Given the description of an element on the screen output the (x, y) to click on. 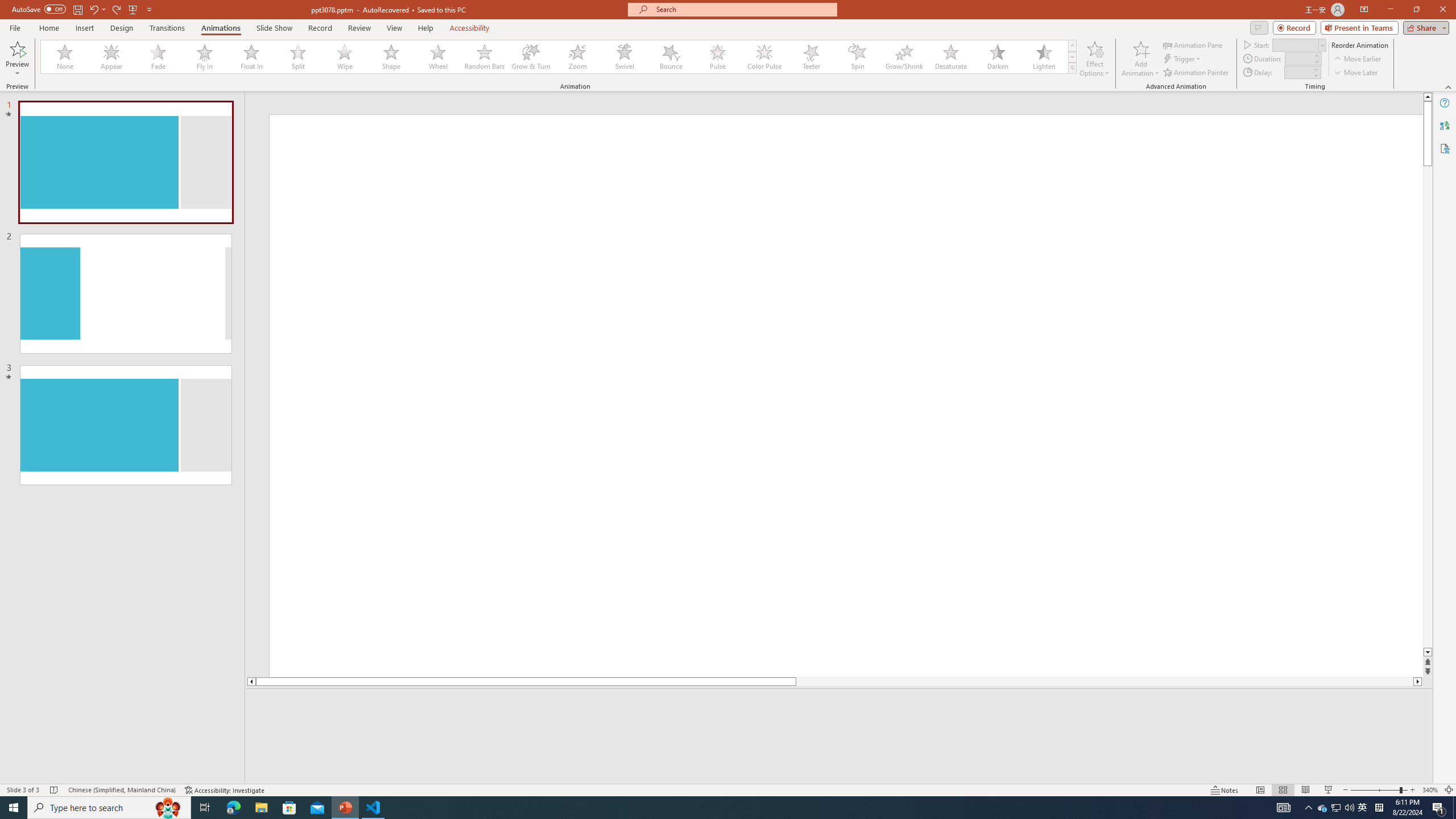
Bounce (670, 56)
Animation Pane (1193, 44)
Lighten (1043, 56)
Desaturate (950, 56)
Pulse (717, 56)
Move Later (1355, 72)
Open (1321, 44)
Spin (857, 56)
Color Pulse (764, 56)
